Given the description of an element on the screen output the (x, y) to click on. 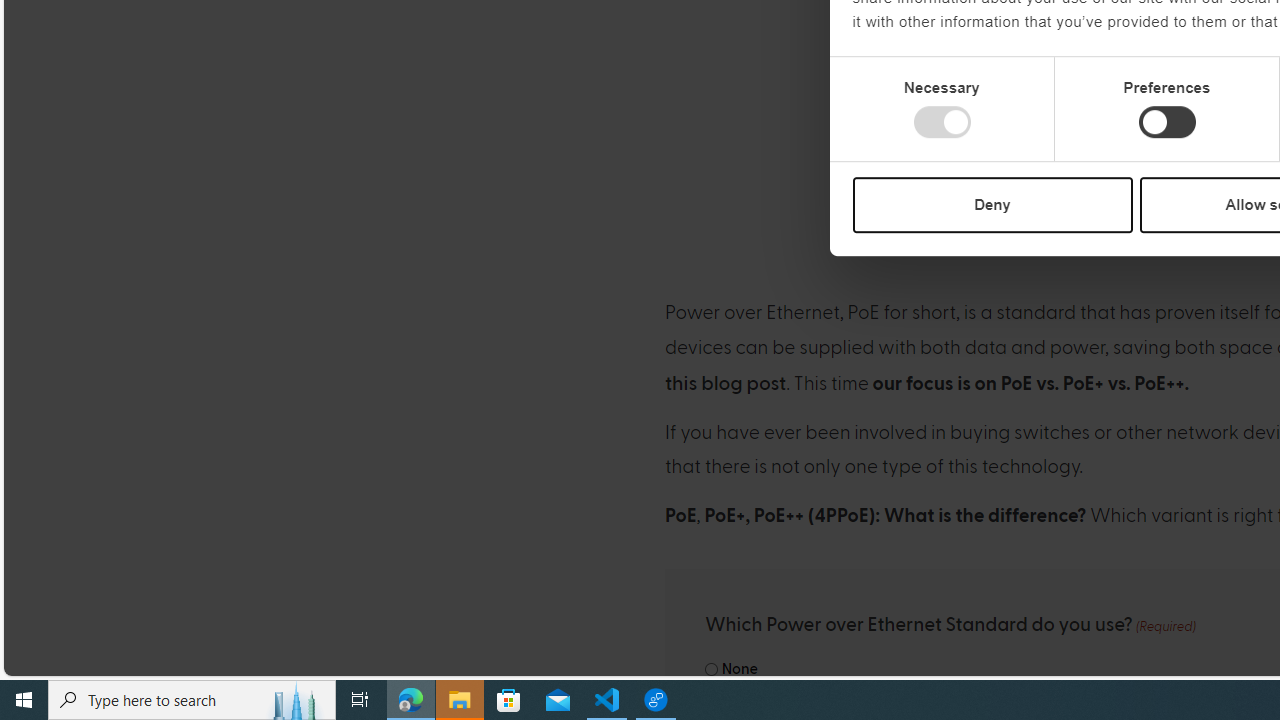
Deny (992, 204)
Necessary (941, 121)
None (711, 669)
Preferences (1166, 121)
